Given the description of an element on the screen output the (x, y) to click on. 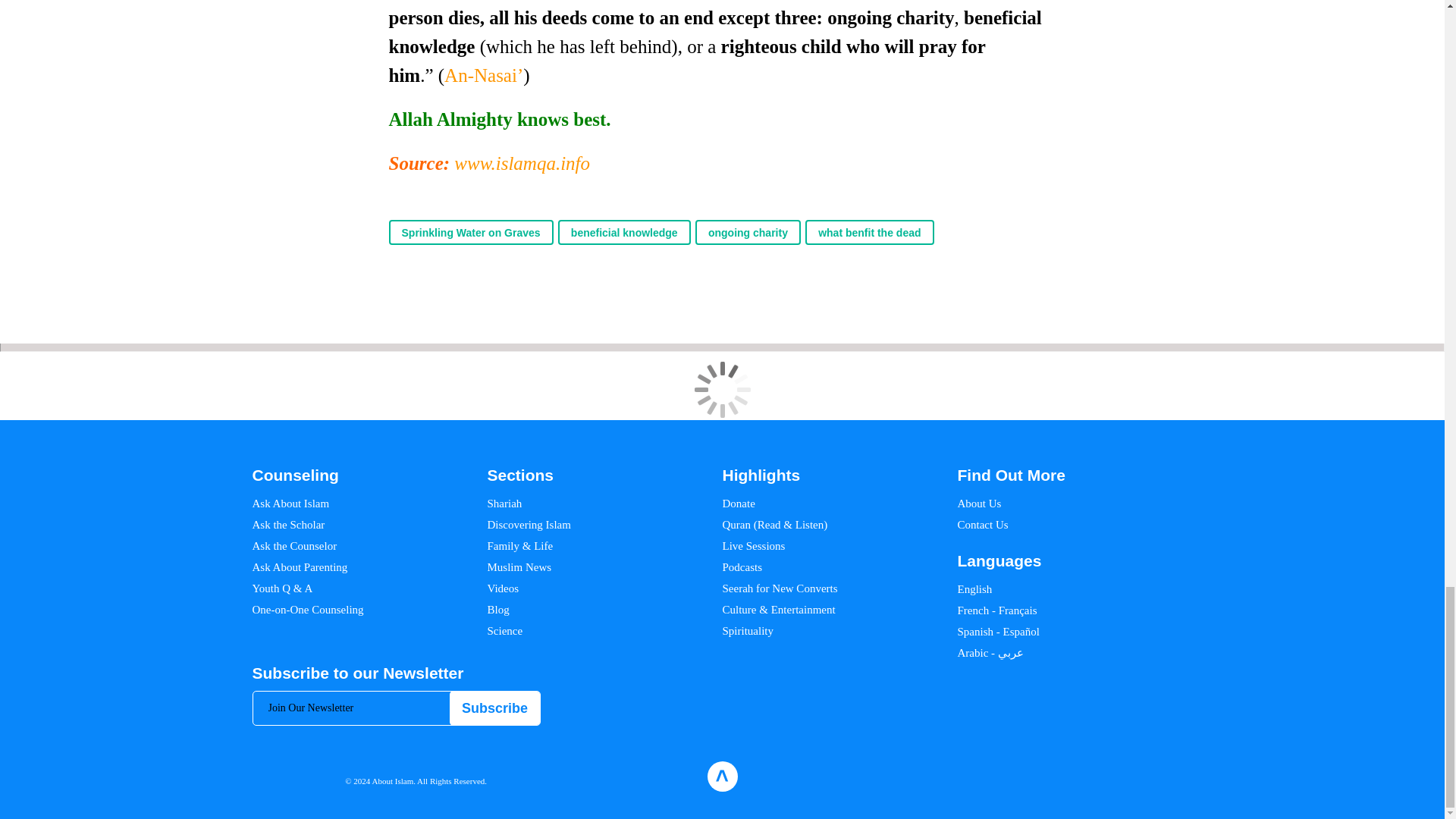
ongoing charity (747, 232)
what benfit the dead (869, 232)
pinterest (1113, 777)
Join Our Newsletter (396, 707)
www.islamqa.info (521, 163)
Ask the Counselor (293, 545)
Sprinkling Water on Graves (470, 232)
Subscribe (494, 708)
instagram (1091, 777)
what benfit the dead Tag (869, 232)
ongoing charity Tag (747, 232)
youtube (1166, 777)
Twitter (1068, 777)
Sprinkling Water on Graves Tag (470, 232)
social-1 (1195, 777)
